Given the description of an element on the screen output the (x, y) to click on. 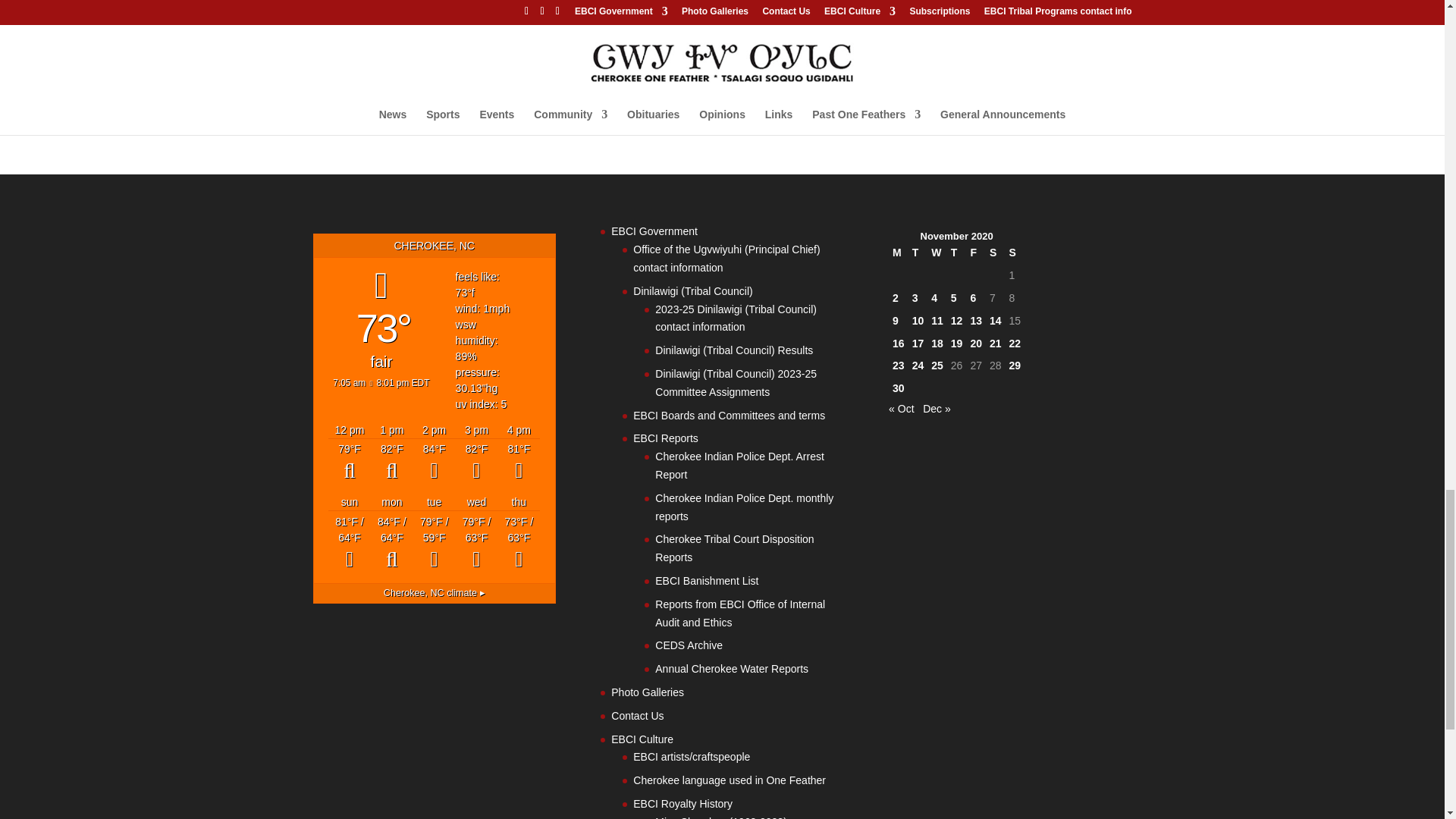
Scattered Thunderstorms (518, 462)
Partly Cloudy (392, 462)
Thunderstorms (476, 462)
Partly Cloudy (350, 462)
Scattered Thunderstorms (434, 462)
Cherokee, NC - Climate (434, 593)
